Given the description of an element on the screen output the (x, y) to click on. 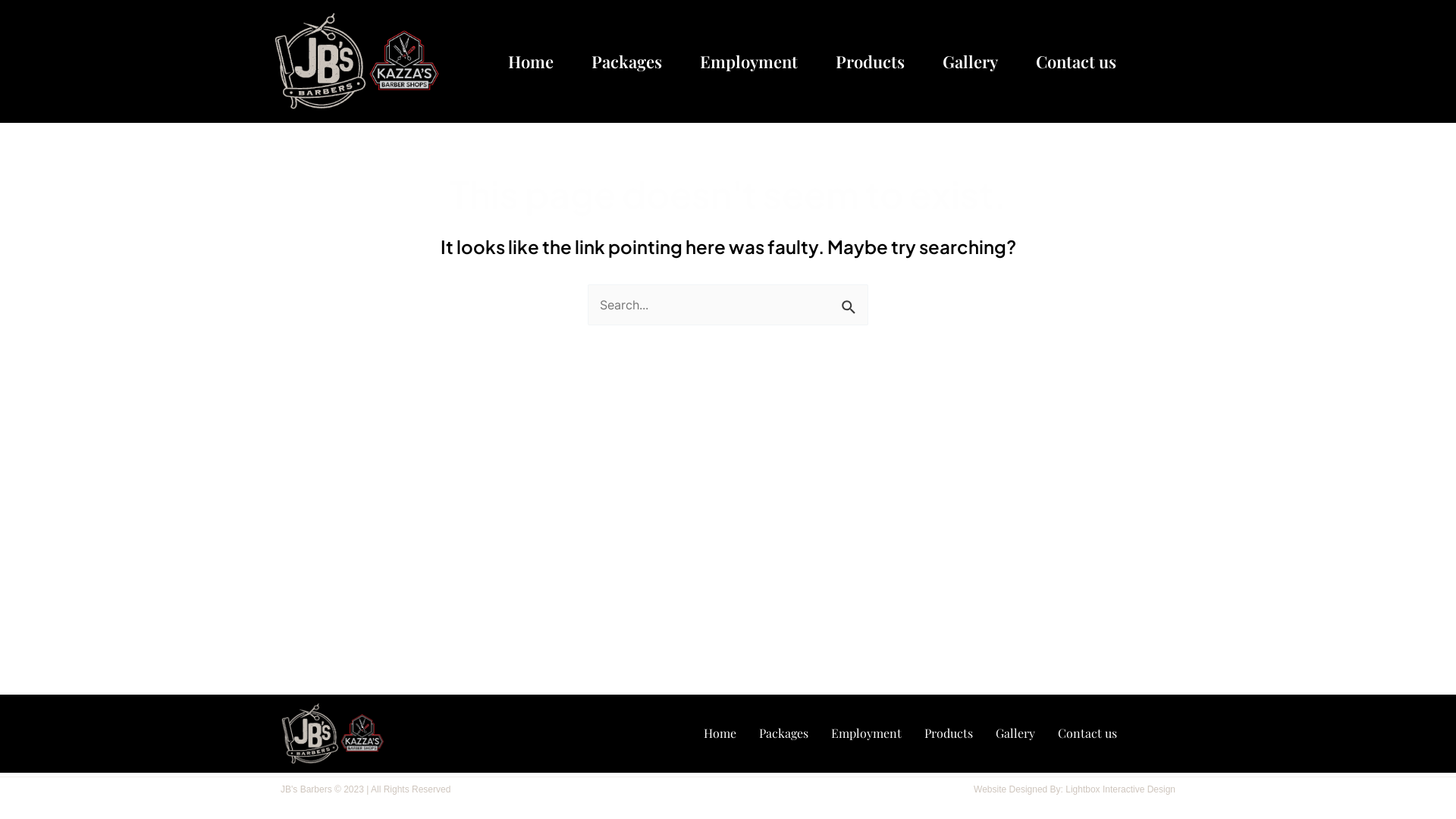
Packages Element type: text (626, 61)
Contact us Element type: text (1087, 732)
Packages Element type: text (783, 732)
Employment Element type: text (748, 61)
Home Element type: text (530, 61)
Contact us Element type: text (1075, 61)
Employment Element type: text (865, 732)
Products Element type: text (948, 732)
Products Element type: text (869, 61)
Search Element type: text (851, 301)
Gallery Element type: text (969, 61)
Home Element type: text (718, 732)
Lightbox Interactive Design Element type: text (1120, 789)
Gallery Element type: text (1015, 732)
